Given the description of an element on the screen output the (x, y) to click on. 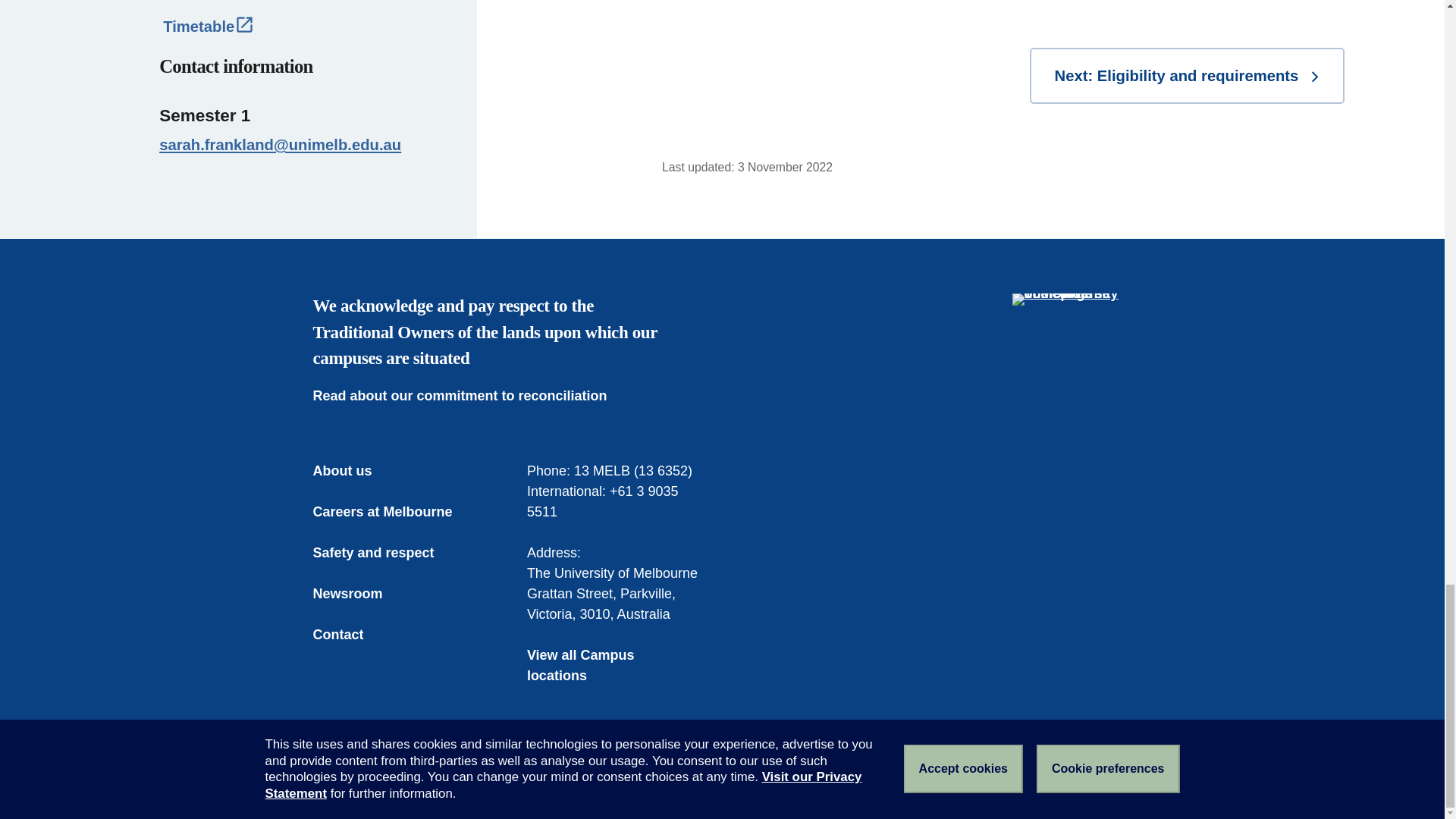
Contact (349, 634)
Careers at Melbourne (393, 512)
Next: Eligibility and requirements (1186, 75)
Emergency (345, 780)
Read about our commitment to reconciliation (470, 395)
Privacy (604, 780)
Accessibility (532, 780)
Newsroom (358, 593)
View all Campus locations (615, 665)
Safety and respect (384, 552)
